Given the description of an element on the screen output the (x, y) to click on. 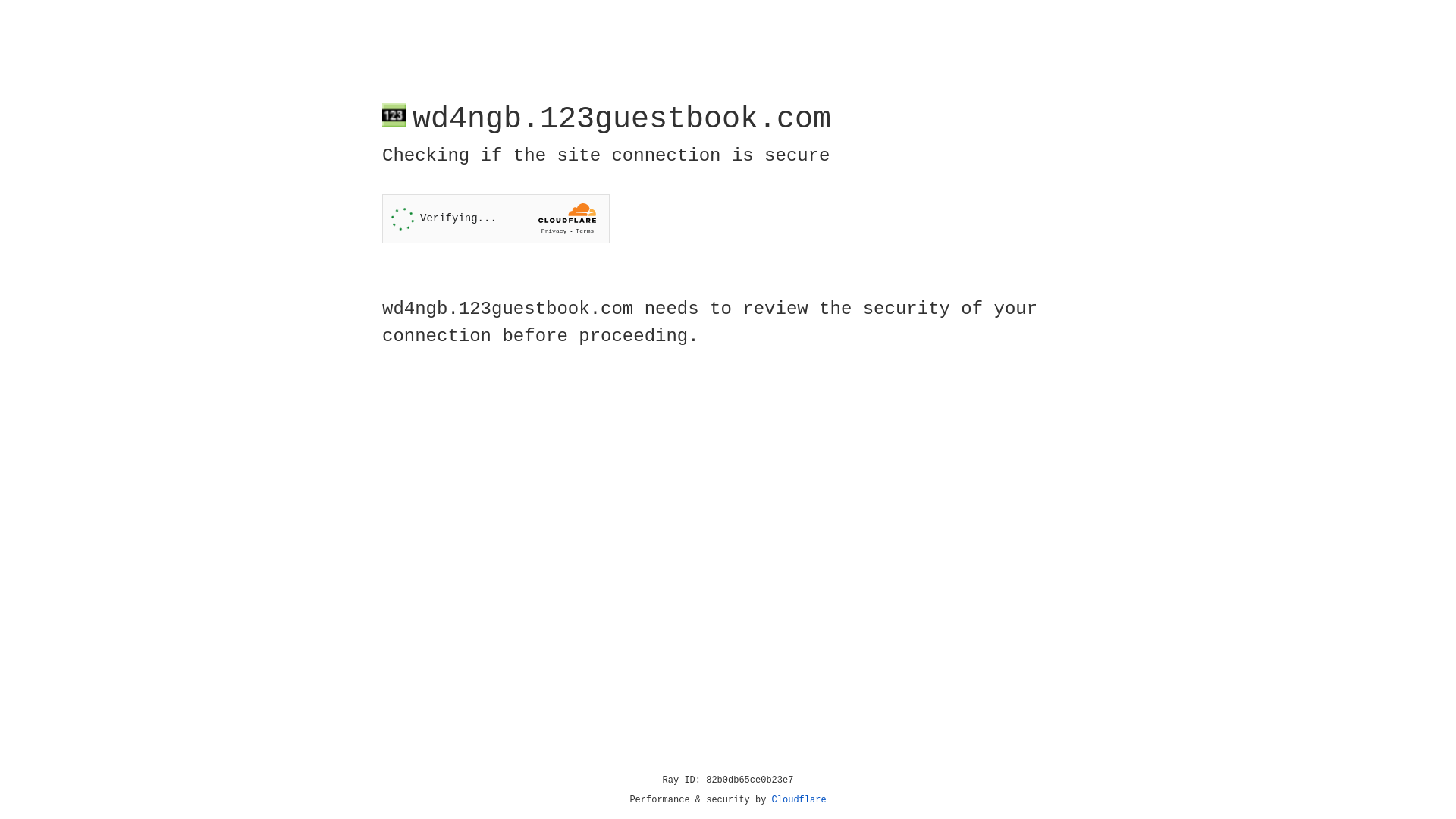
Widget containing a Cloudflare security challenge Element type: hover (495, 218)
Cloudflare Element type: text (798, 799)
